Given the description of an element on the screen output the (x, y) to click on. 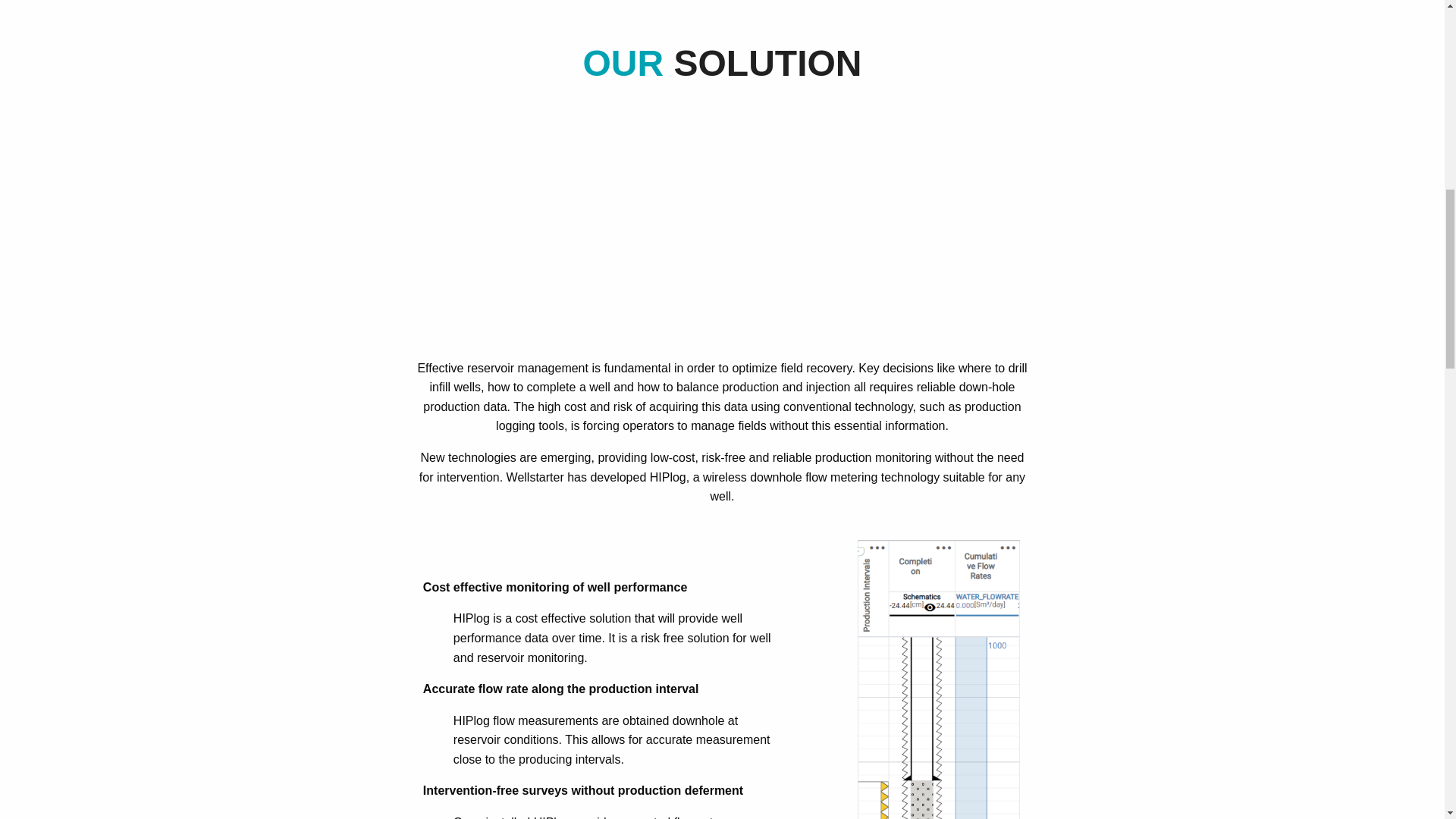
The HIPLOG Technology by Wellstarter (721, 233)
